Given the description of an element on the screen output the (x, y) to click on. 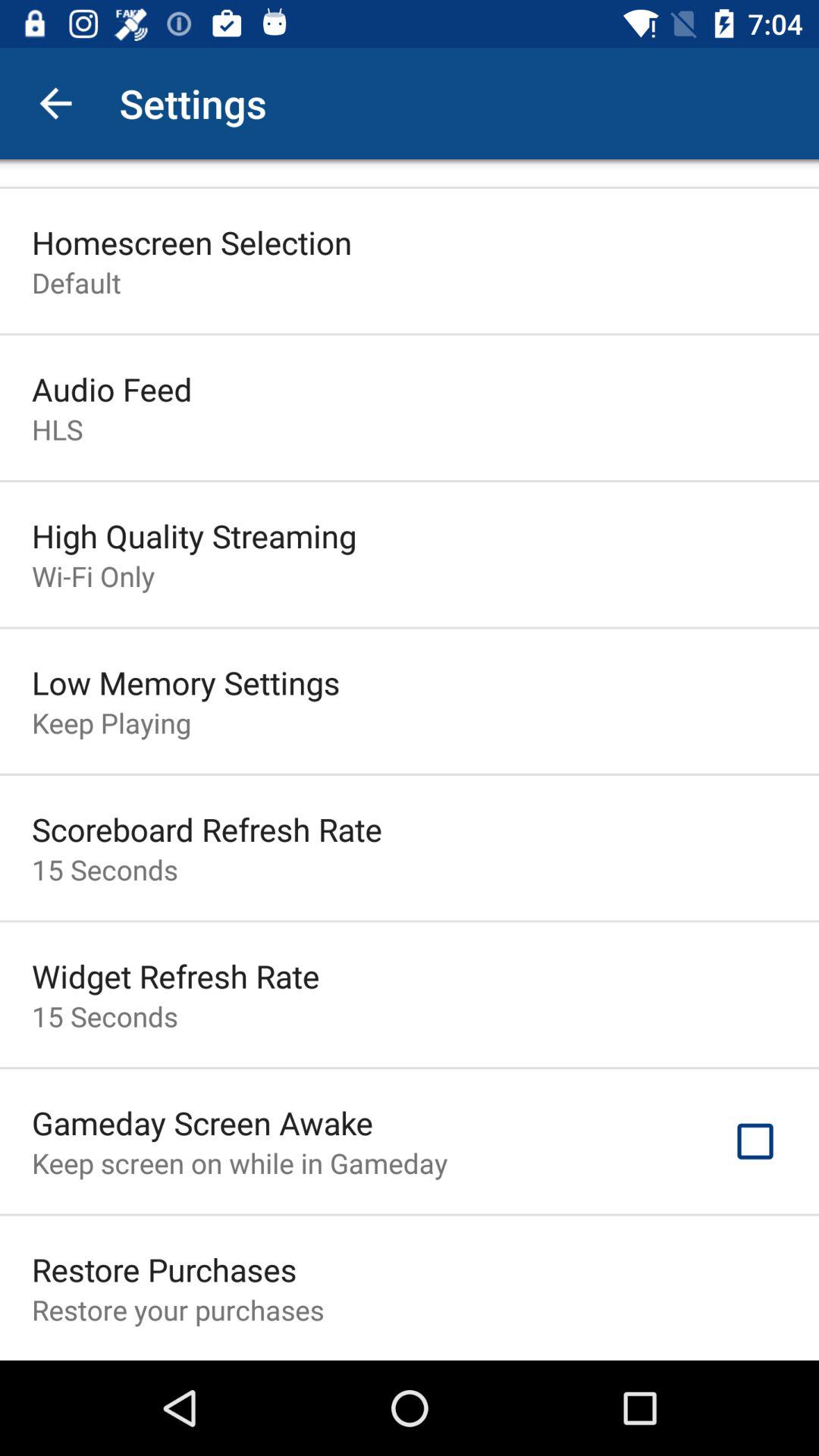
launch icon at the bottom right corner (755, 1141)
